Given the description of an element on the screen output the (x, y) to click on. 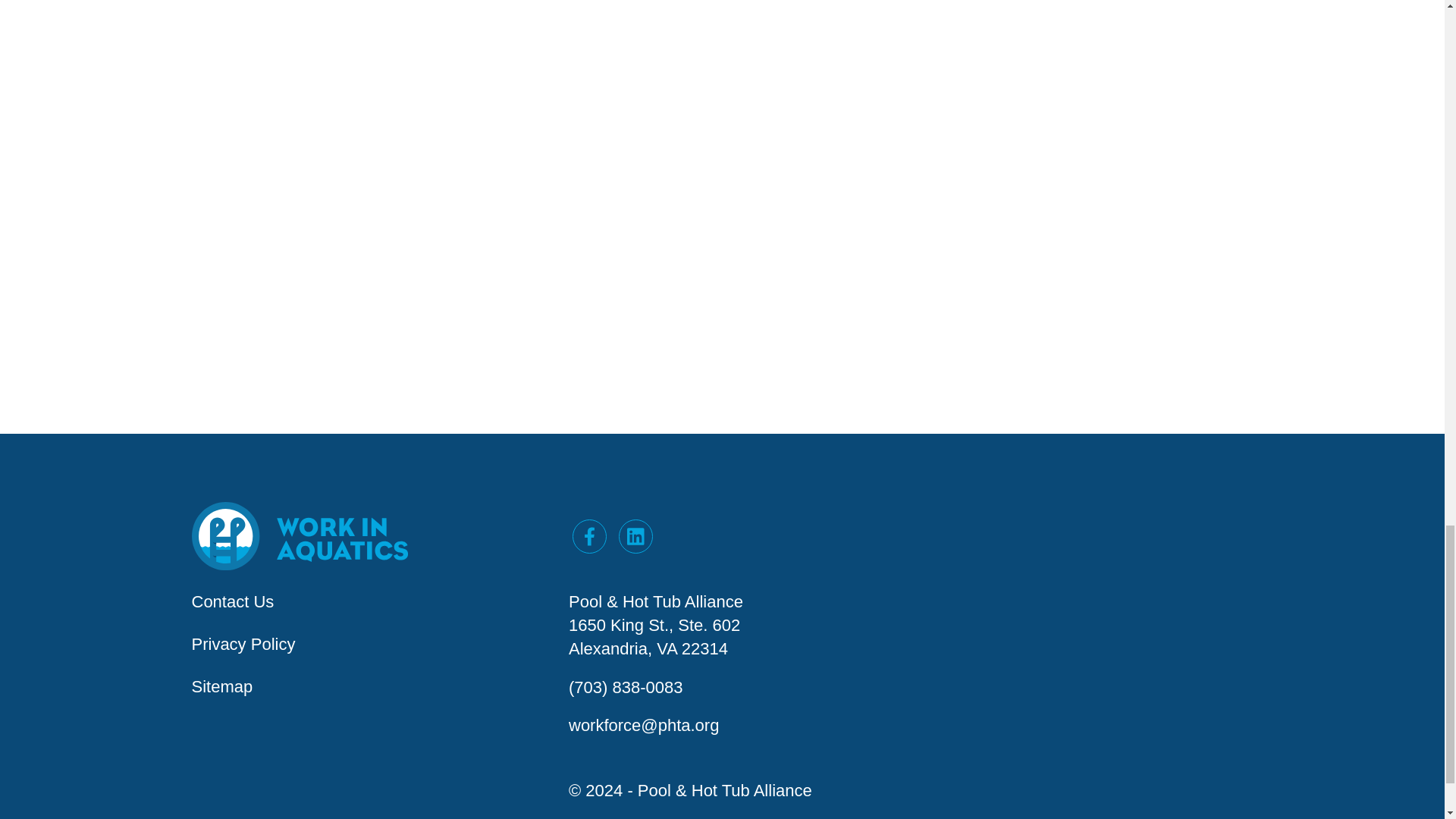
LinkedIn (635, 536)
Contact Us (231, 601)
Privacy Policy (242, 643)
Sitemap (220, 686)
Facebook (589, 536)
